Given the description of an element on the screen output the (x, y) to click on. 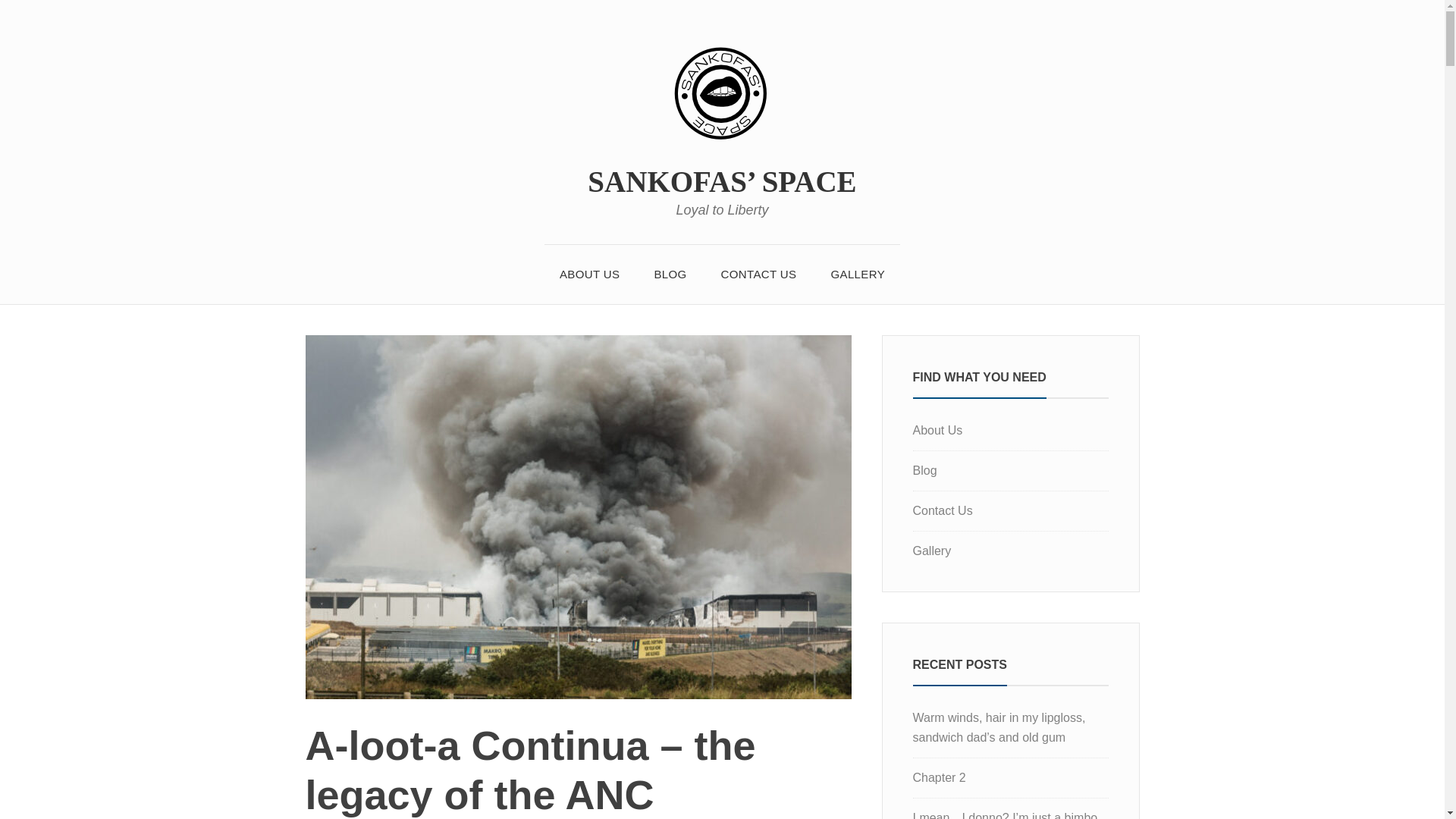
GALLERY (857, 273)
BLOG (670, 273)
ABOUT US (589, 273)
About Us (937, 430)
CONTACT US (759, 273)
Blog (924, 470)
